Given the description of an element on the screen output the (x, y) to click on. 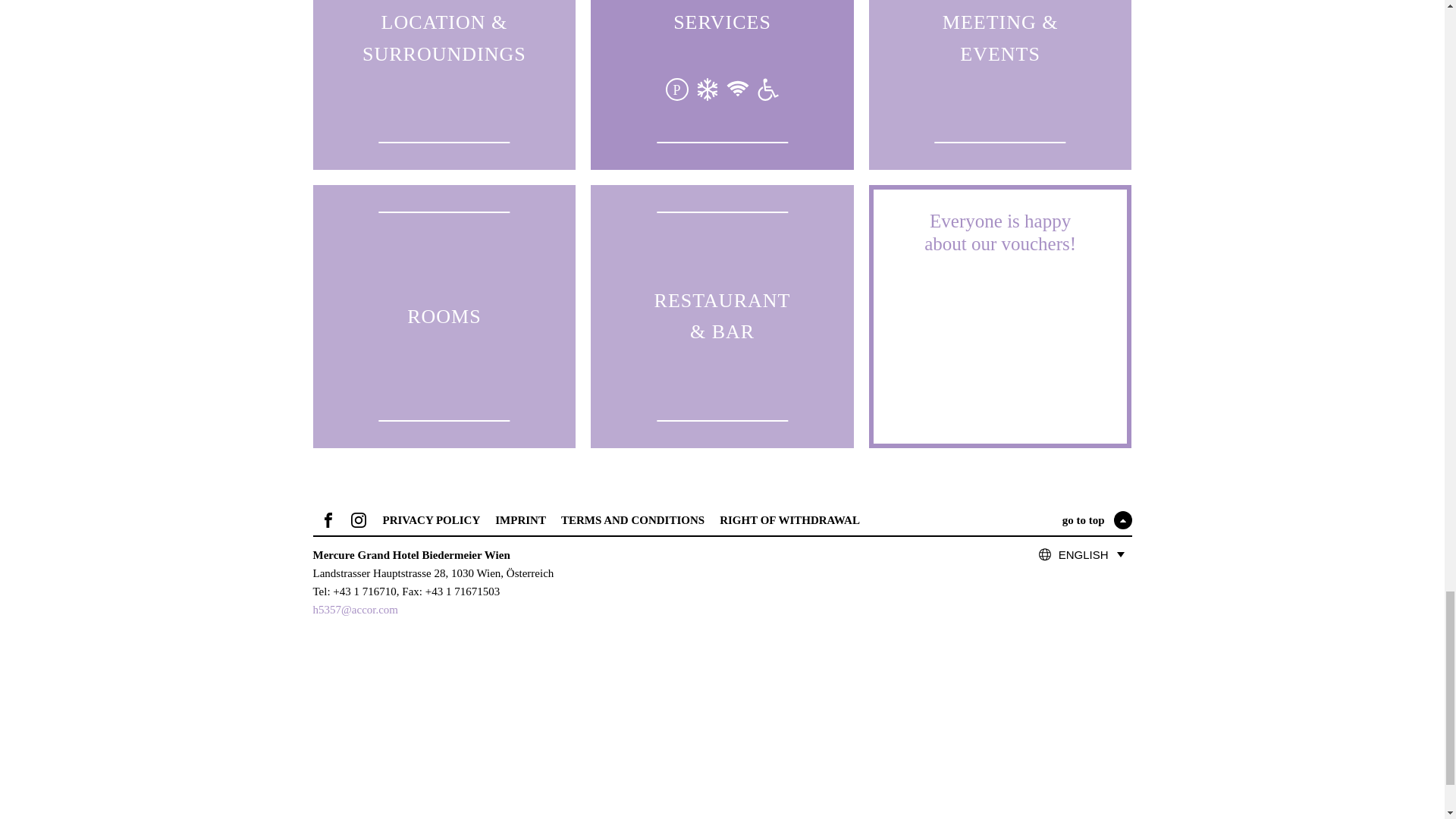
IMPRINT (520, 520)
RIGHT OF WITHDRAWAL (789, 520)
TERMS AND CONDITIONS (632, 520)
go to top (1097, 520)
Everyone is happy about our vouchers! (999, 316)
PRIVACY POLICY (430, 520)
ROOMS (444, 316)
